Given the description of an element on the screen output the (x, y) to click on. 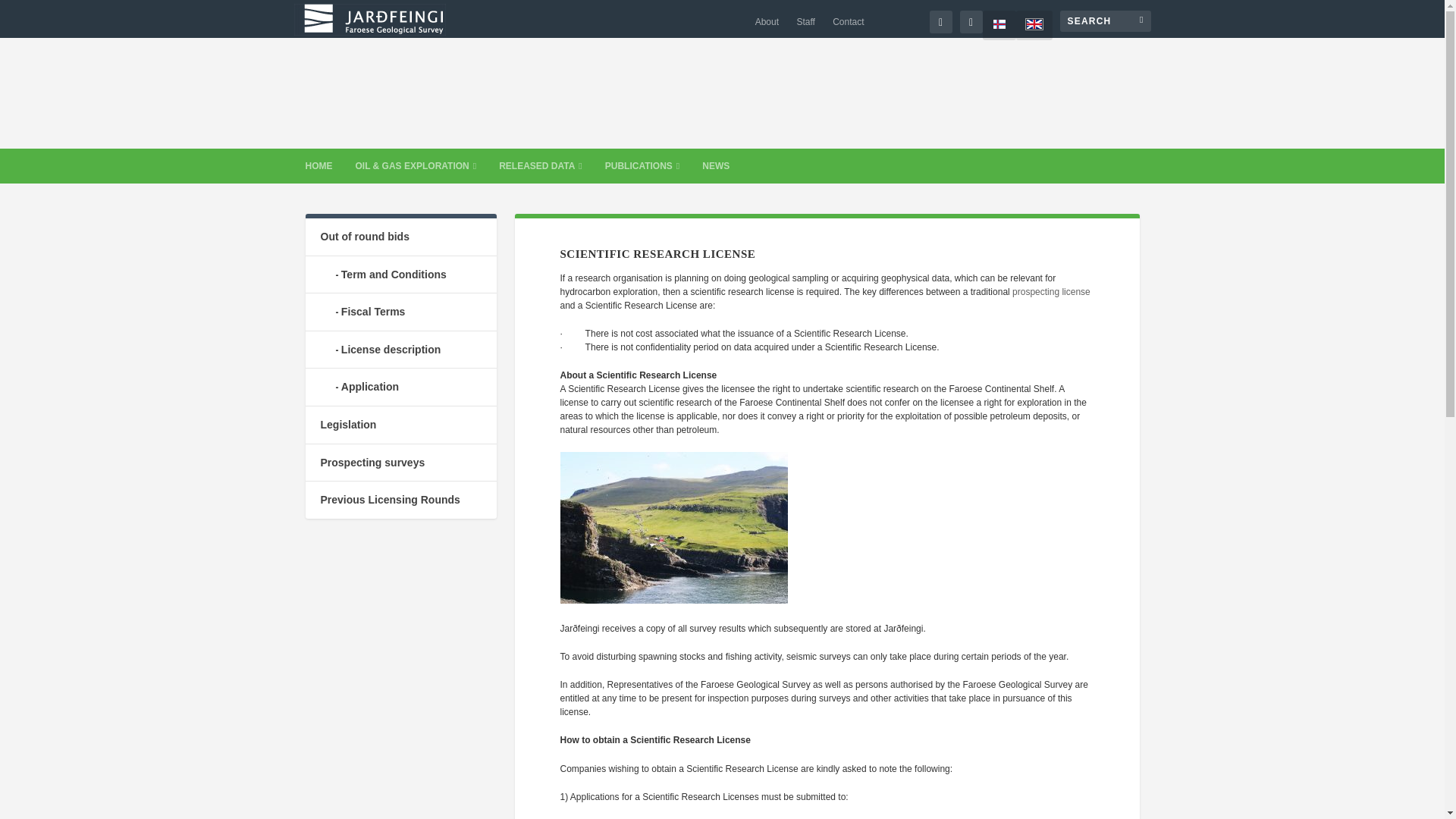
fo (999, 25)
prospecting license (1050, 291)
PUBLICATIONS (642, 165)
Search for: (1105, 20)
English (1034, 25)
RELEASED DATA (540, 165)
